Given the description of an element on the screen output the (x, y) to click on. 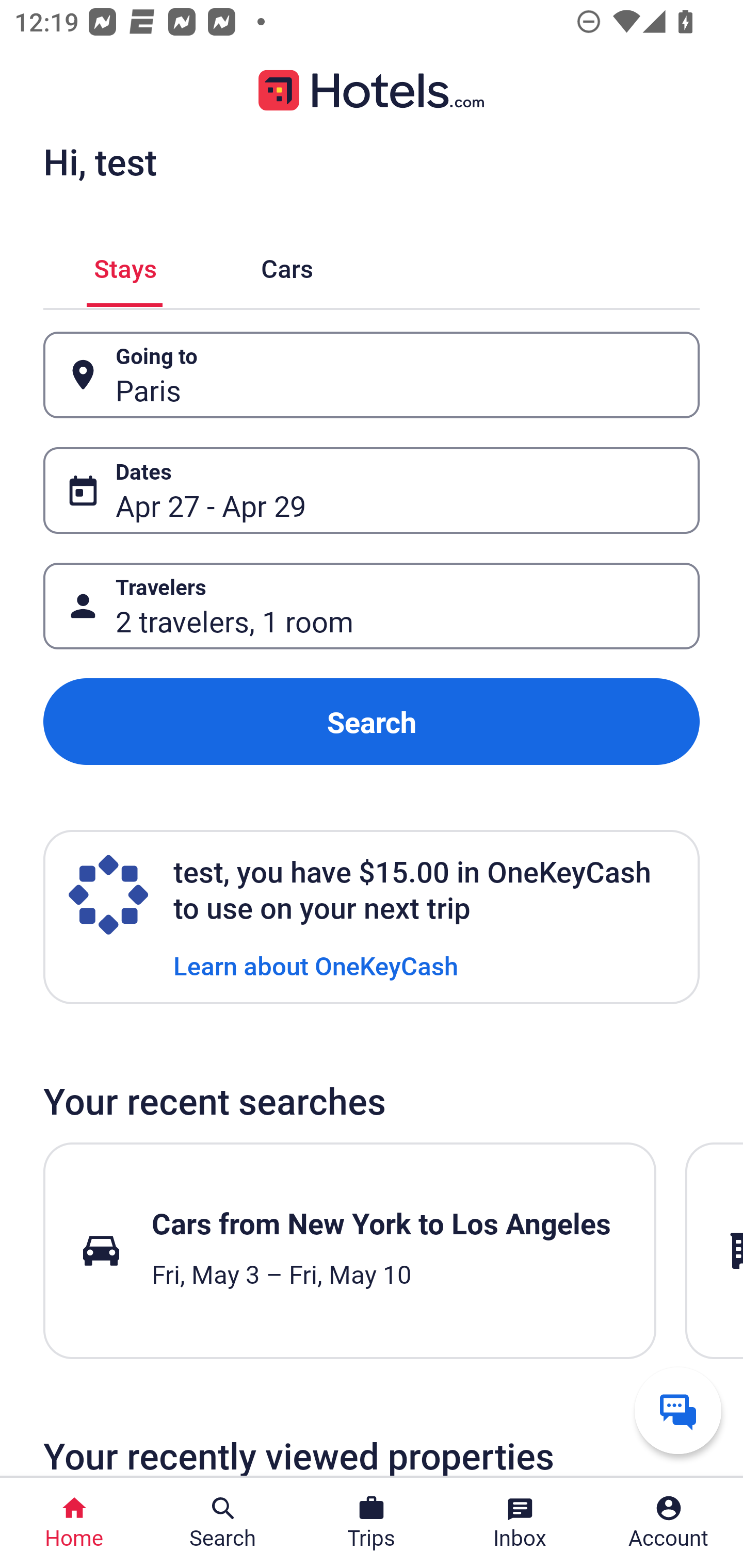
Hi, test (99, 161)
Cars (286, 265)
Going to Button Paris (371, 375)
Dates Button Apr 27 - Apr 29 (371, 489)
Travelers Button 2 travelers, 1 room (371, 605)
Search (371, 721)
Learn about OneKeyCash Learn about OneKeyCash Link (315, 964)
Get help from a virtual agent (677, 1410)
Search Search Button (222, 1522)
Trips Trips Button (371, 1522)
Inbox Inbox Button (519, 1522)
Account Profile. Button (668, 1522)
